Given the description of an element on the screen output the (x, y) to click on. 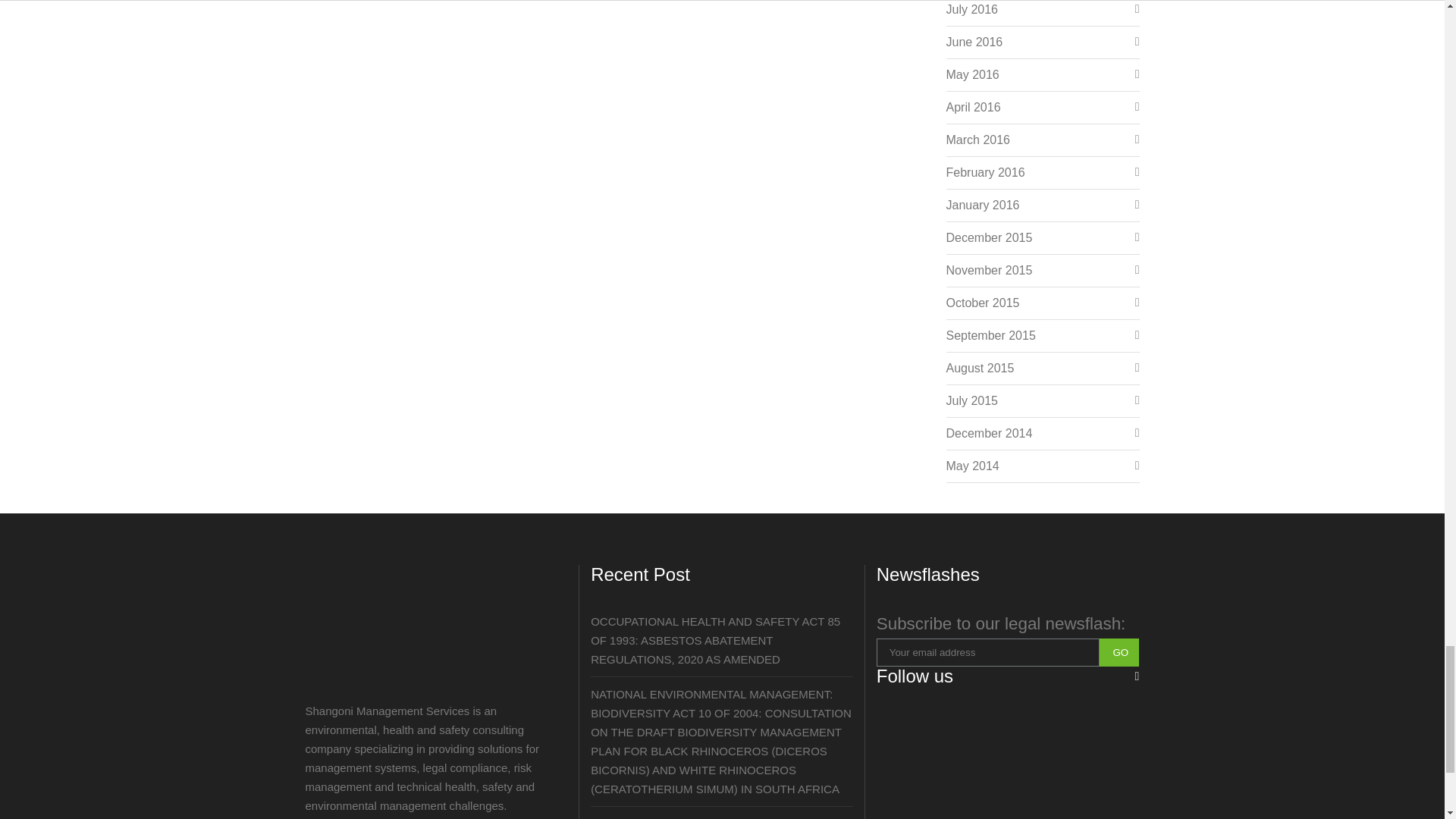
GO (1118, 652)
